Given the description of an element on the screen output the (x, y) to click on. 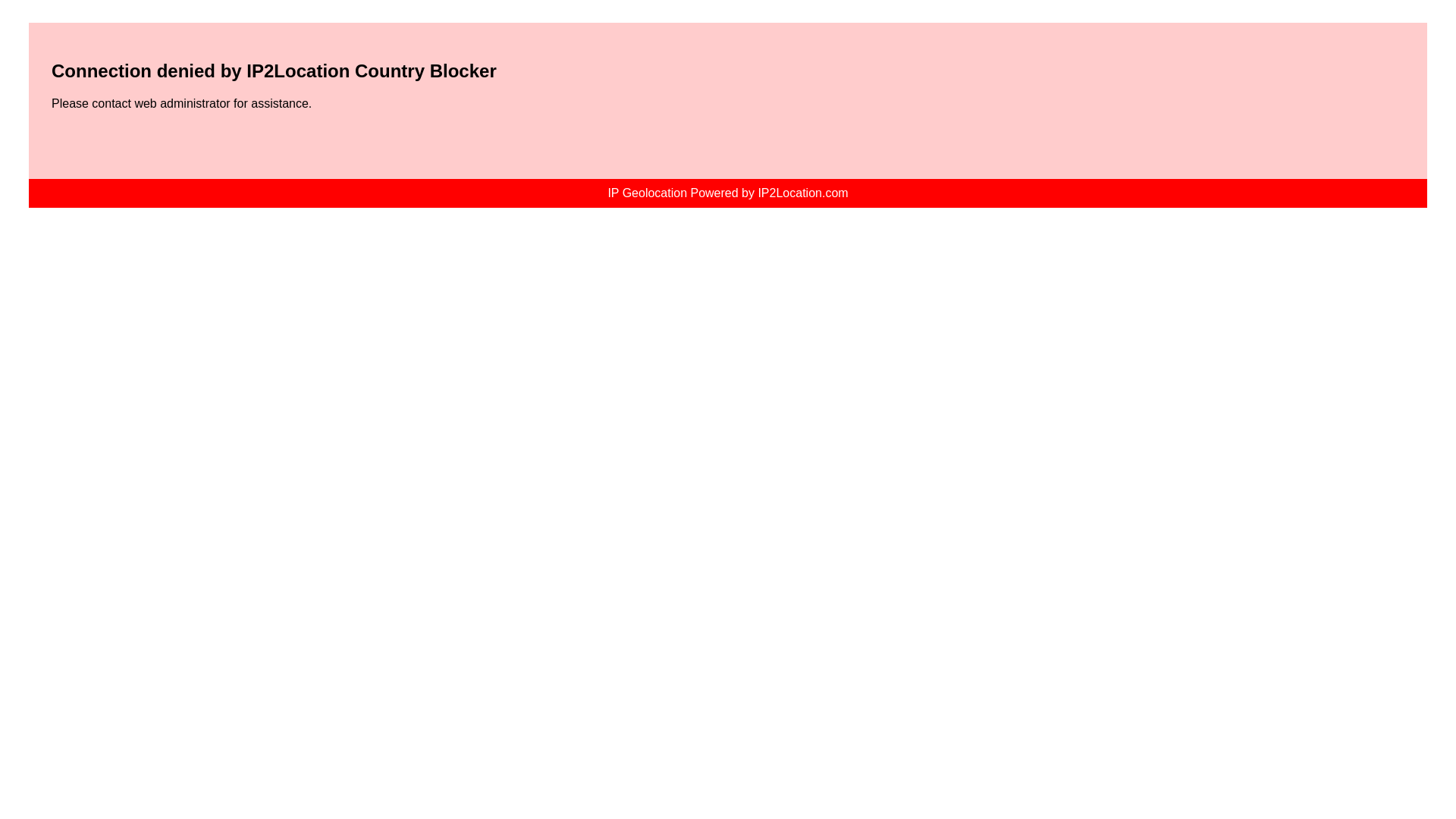
IP Geolocation Powered by IP2Location.com (727, 192)
